Given the description of an element on the screen output the (x, y) to click on. 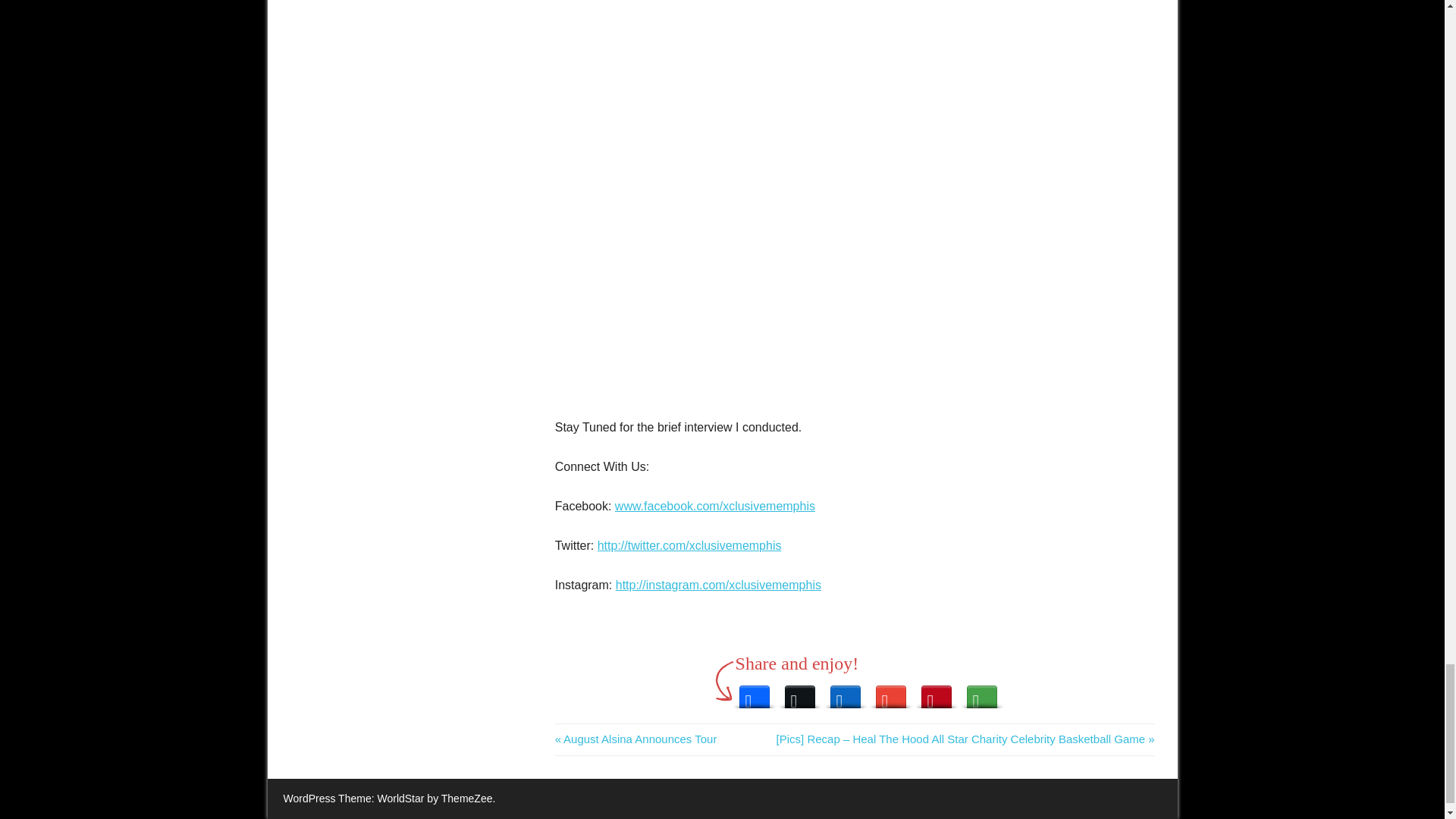
More Options (981, 692)
Facebook (635, 738)
Google Gmail (754, 692)
LinkedIn (890, 692)
Pinterest (844, 692)
